Given the description of an element on the screen output the (x, y) to click on. 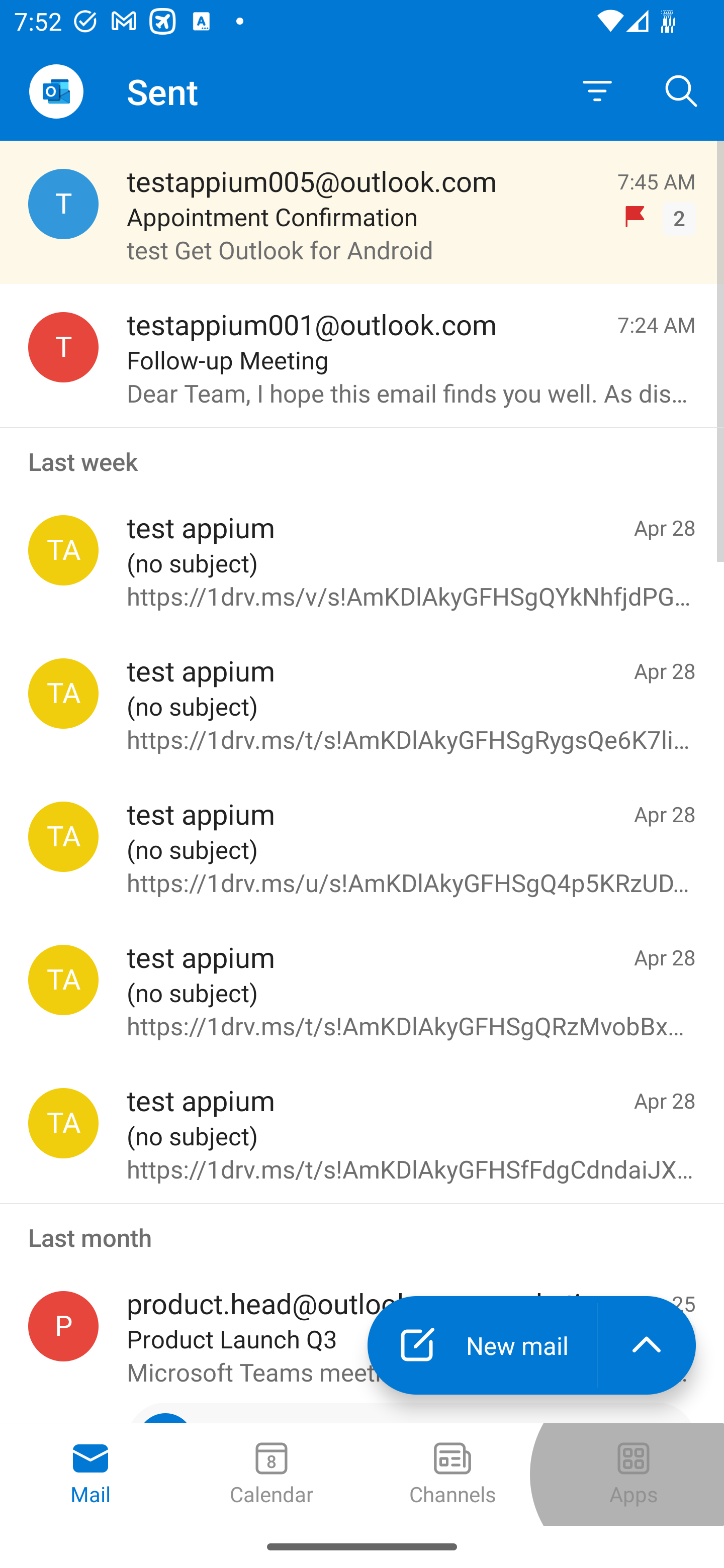
Search, ,  (681, 90)
Open Navigation Drawer (55, 91)
Filter (597, 91)
test appium, testappium002@gmail.com (63, 549)
test appium, testappium002@gmail.com (63, 693)
test appium, testappium002@gmail.com (63, 836)
test appium, testappium002@gmail.com (63, 979)
test appium, testappium002@gmail.com (63, 1123)
product.head@outlook.com, product.head@outlook.com (63, 1325)
New mail (481, 1344)
launch the extended action menu (646, 1344)
Calendar (271, 1474)
Channels (452, 1474)
Apps (633, 1474)
